Given the description of an element on the screen output the (x, y) to click on. 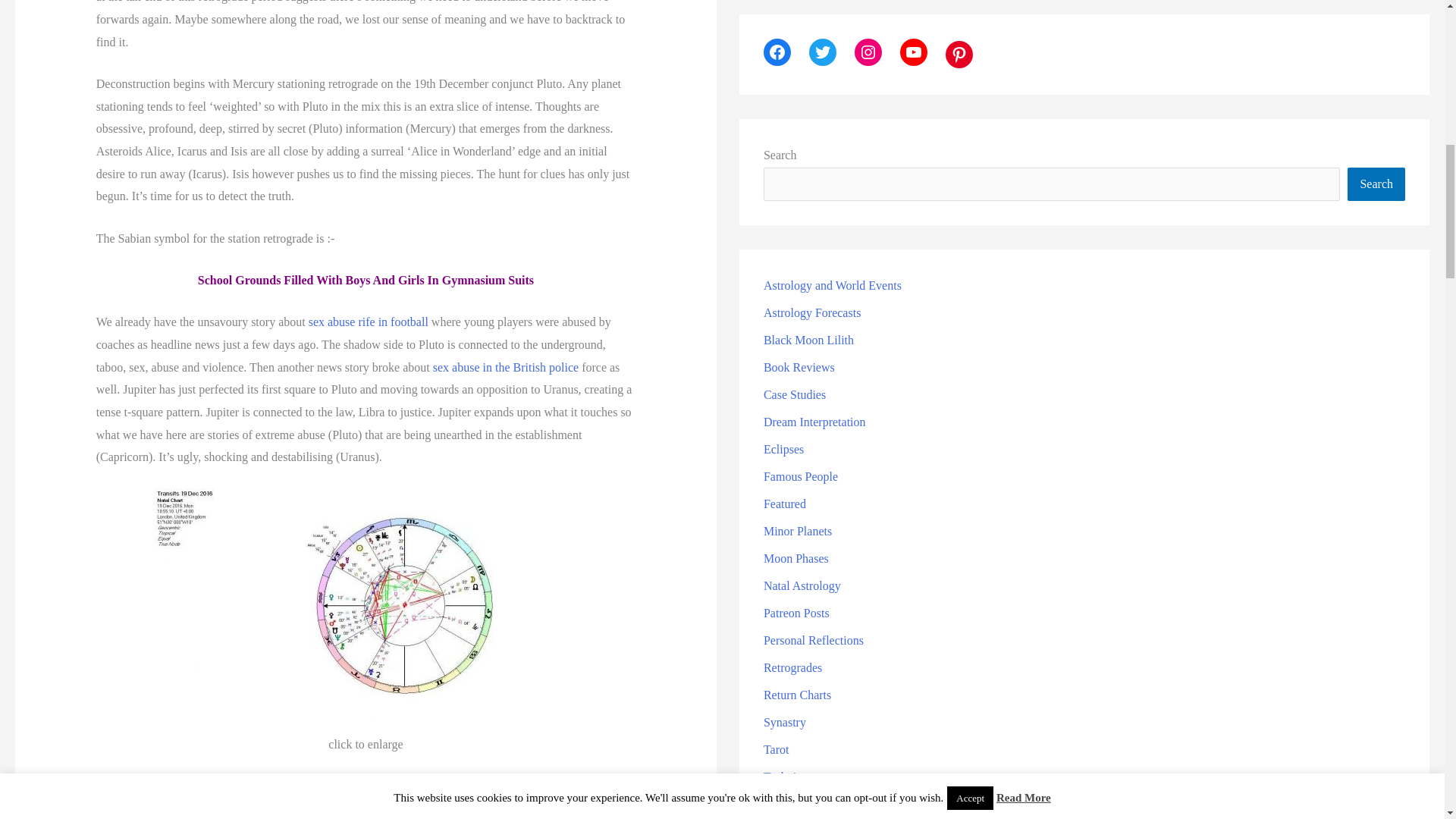
sex abuse in the British police (505, 367)
sex abuse rife in football (368, 321)
